Given the description of an element on the screen output the (x, y) to click on. 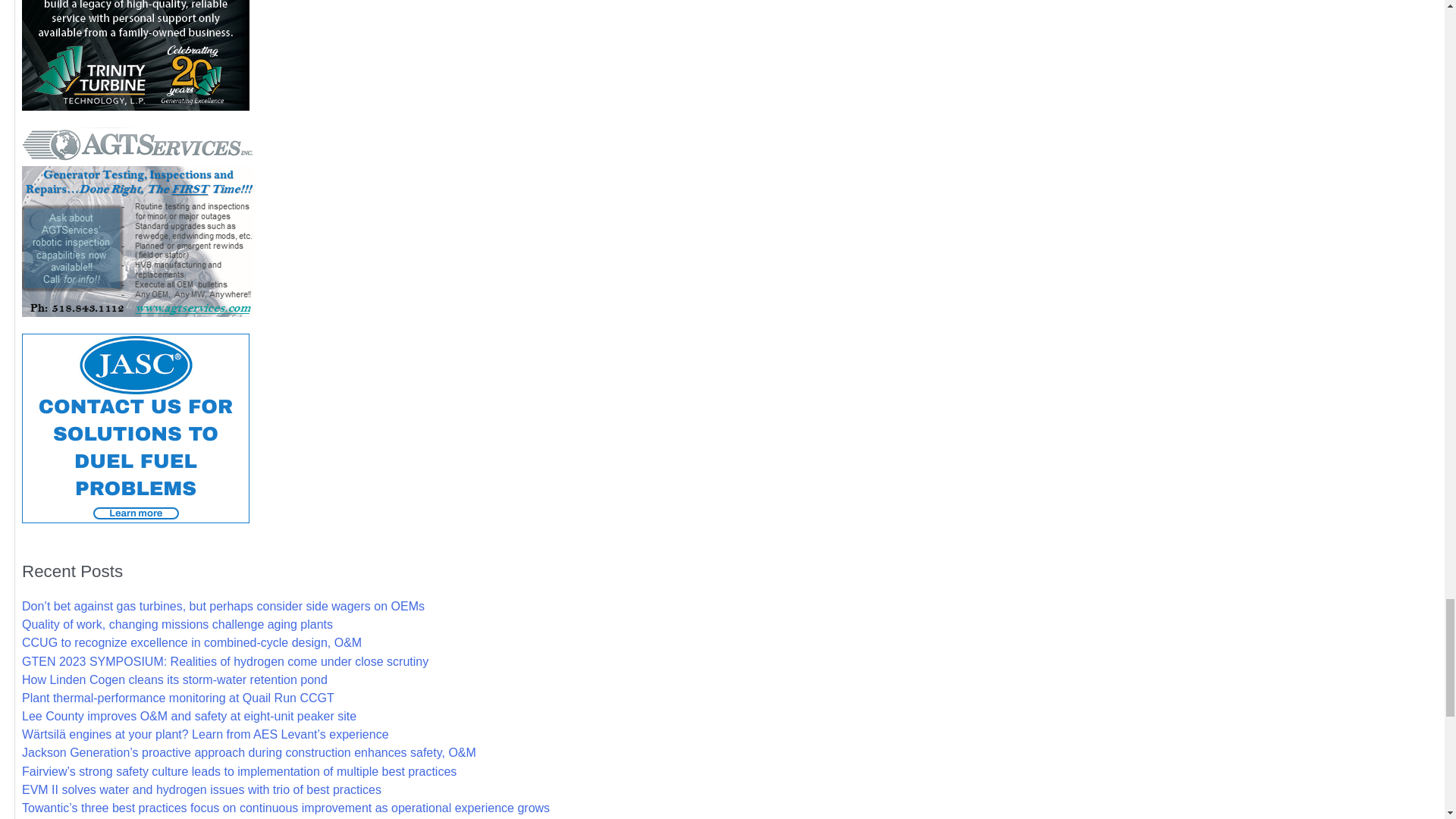
Quality of work, changing missions challenge aging plants (177, 624)
How Linden Cogen cleans its storm-water retention pond (174, 679)
